Given the description of an element on the screen output the (x, y) to click on. 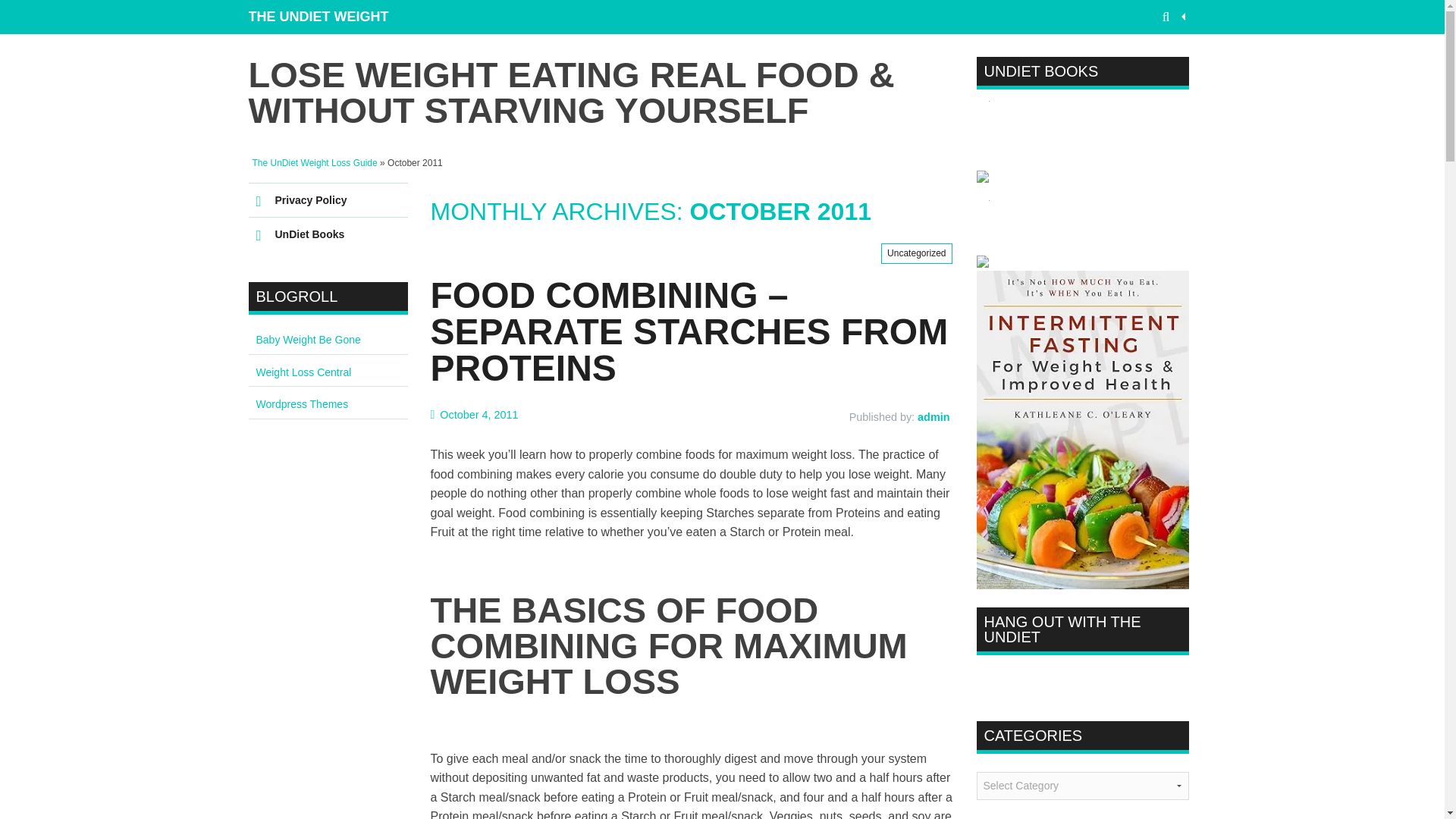
Pinterest (1069, 678)
Wordpress Themes (302, 404)
Instagram (1042, 678)
The UnDiet Weight Loss Guide (335, 17)
Twitter (1015, 678)
Facebook (988, 678)
Skip to content (288, 189)
Baby Weight Be Gone (308, 339)
Uncategorized (916, 253)
Privacy Policy (327, 200)
